Given the description of an element on the screen output the (x, y) to click on. 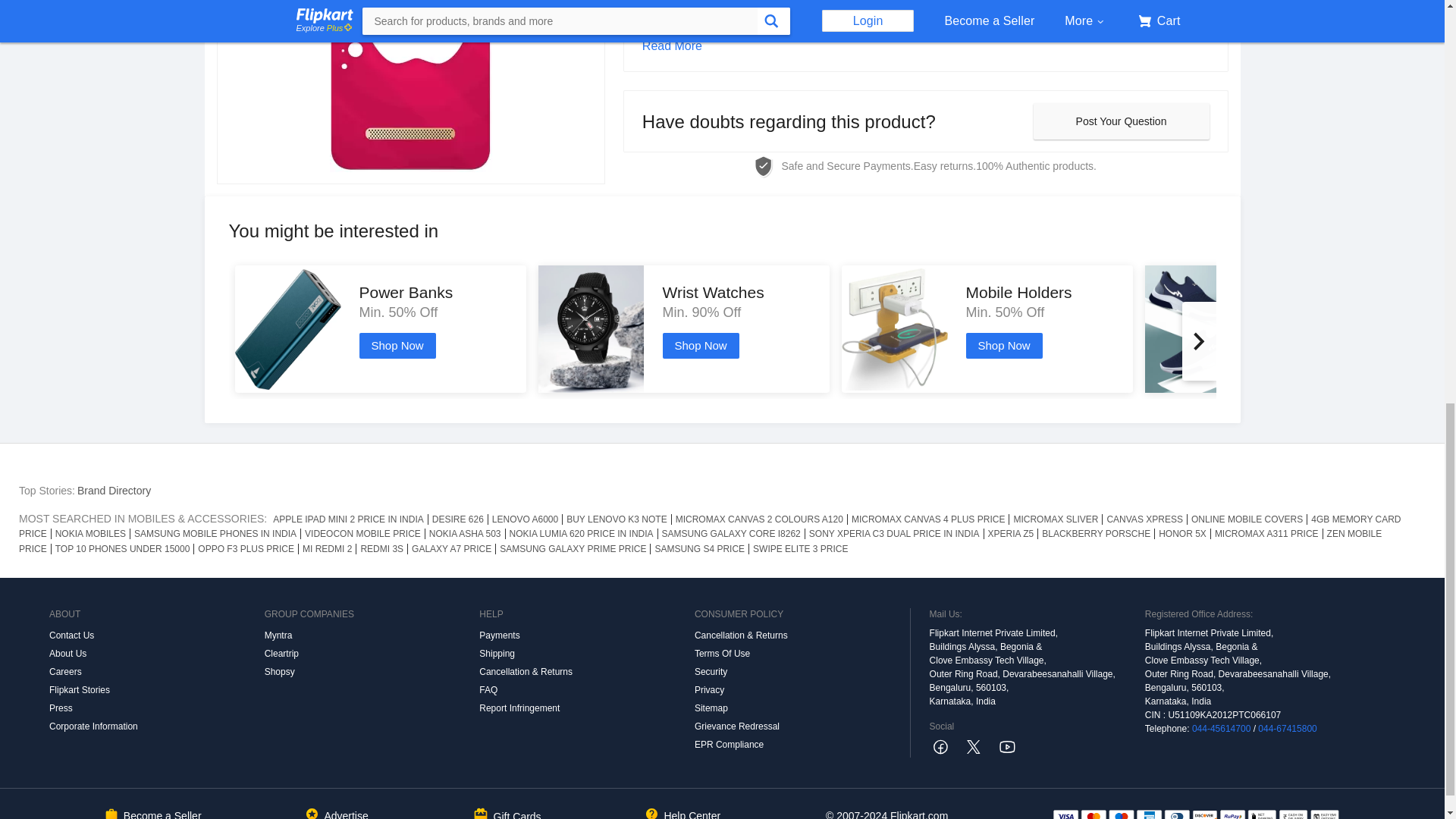
Shopsy (372, 671)
SAMSUNG GALAXY CORE I8262 (731, 533)
Shop Now (397, 345)
MICROMAX A311 PRICE (1267, 533)
DESIRE 626 (457, 519)
Post Your Question (1120, 121)
Read More (925, 46)
SONY XPERIA C3 DUAL PRICE IN INDIA (894, 533)
APPLE IPAD MINI 2 PRICE IN INDIA (348, 519)
LENOVO A6000 (524, 519)
SAMSUNG MOBILE PHONES IN INDIA (216, 533)
Brand Directory (114, 490)
BUY LENOVO K3 NOTE (616, 519)
MICROMAX CANVAS 2 COLOURS A120 (759, 519)
NOKIA LUMIA 620 PRICE IN INDIA (581, 533)
